Given the description of an element on the screen output the (x, y) to click on. 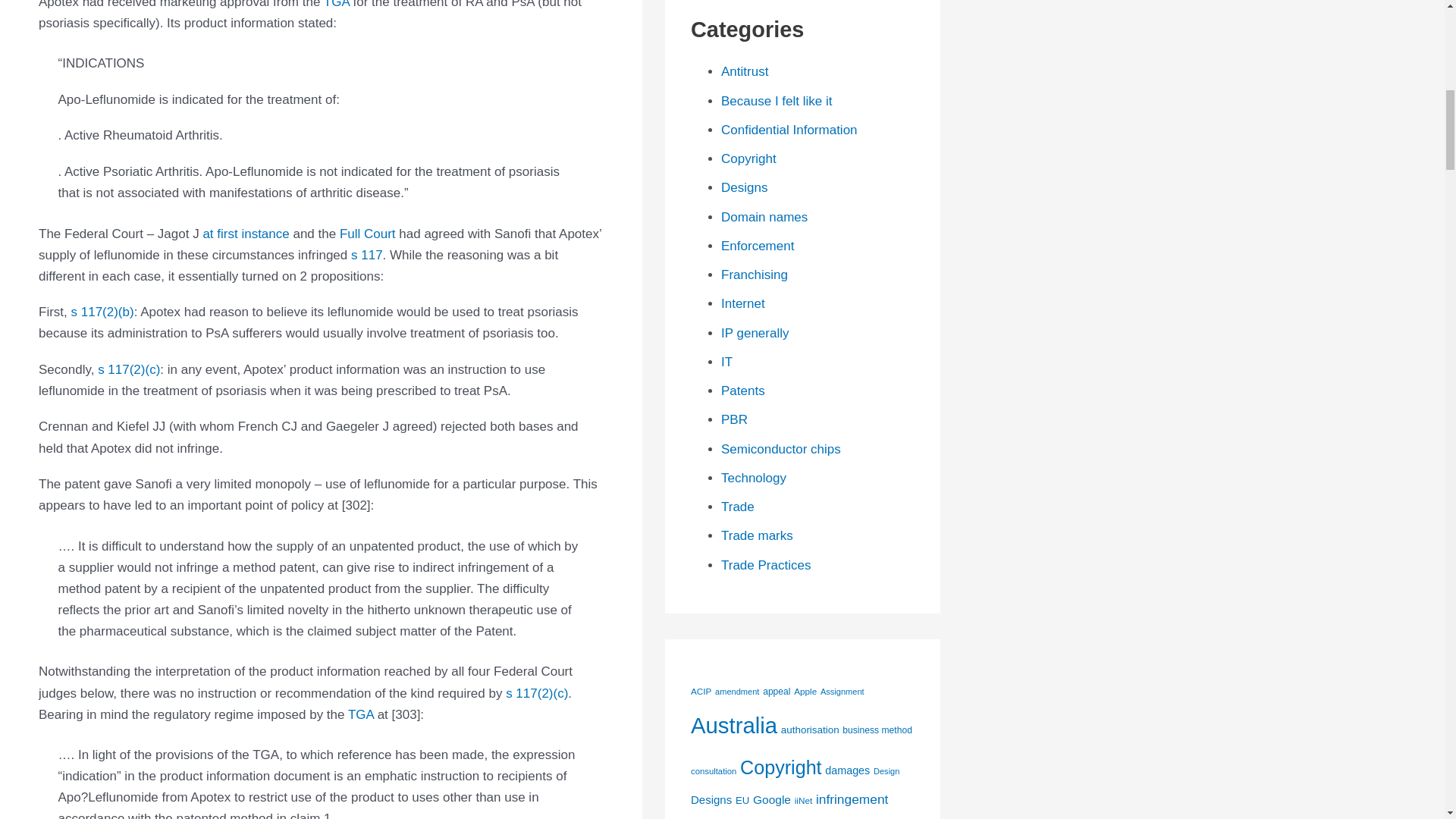
s 117 (366, 255)
TGA (360, 714)
at first instance (245, 233)
Full Court (367, 233)
TGA (336, 4)
